Given the description of an element on the screen output the (x, y) to click on. 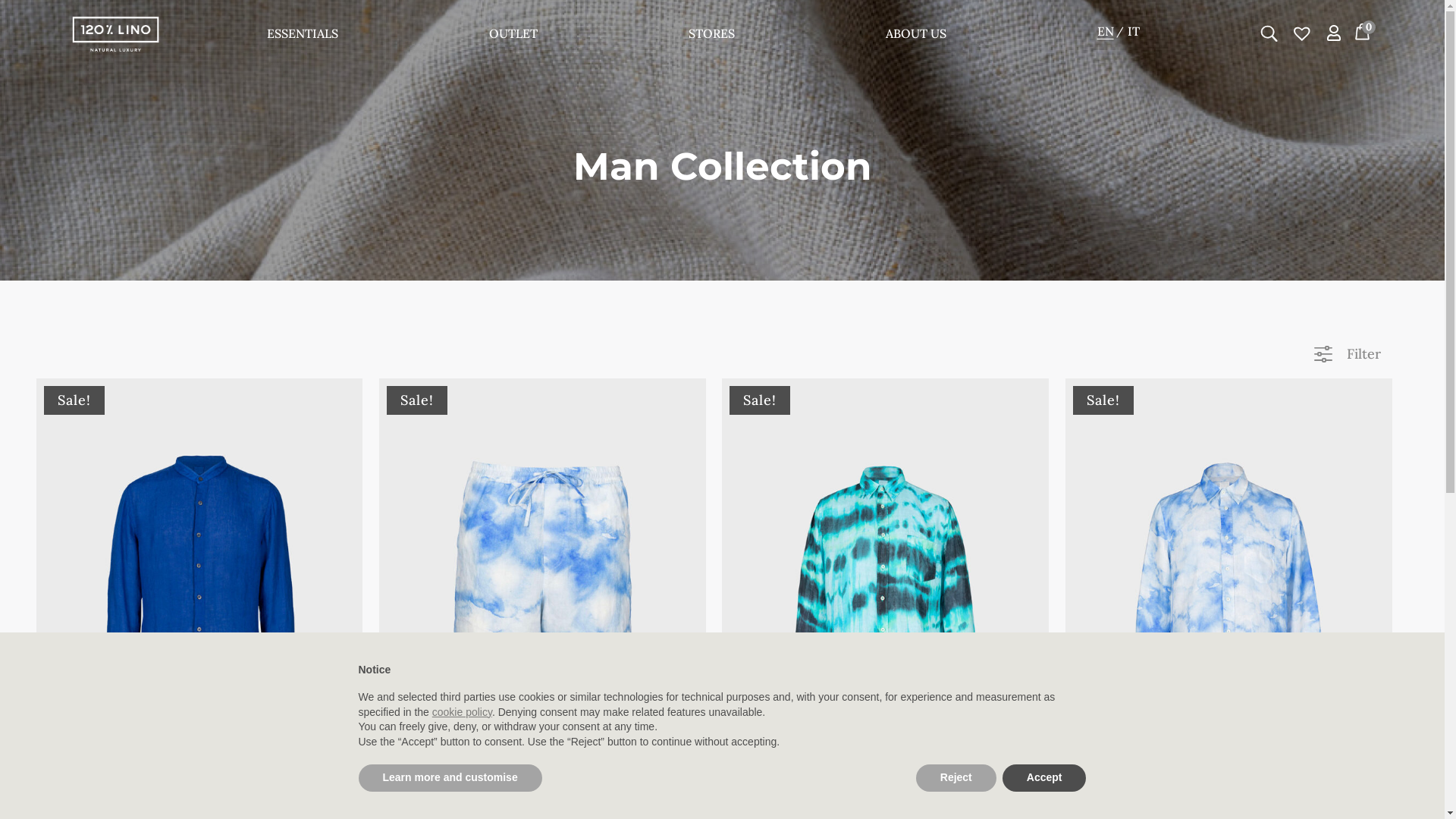
120percento-logo Element type: hover (115, 34)
EN Element type: text (1110, 31)
cookie policy Element type: text (462, 712)
Reject Element type: text (956, 777)
IT Element type: text (1138, 31)
ESSENTIALS Element type: text (302, 36)
ABOUT US Element type: text (915, 36)
Learn more and customise Element type: text (449, 777)
STORES Element type: text (711, 36)
OUTLET Element type: text (513, 36)
Accept Element type: text (1044, 777)
